Given the description of an element on the screen output the (x, y) to click on. 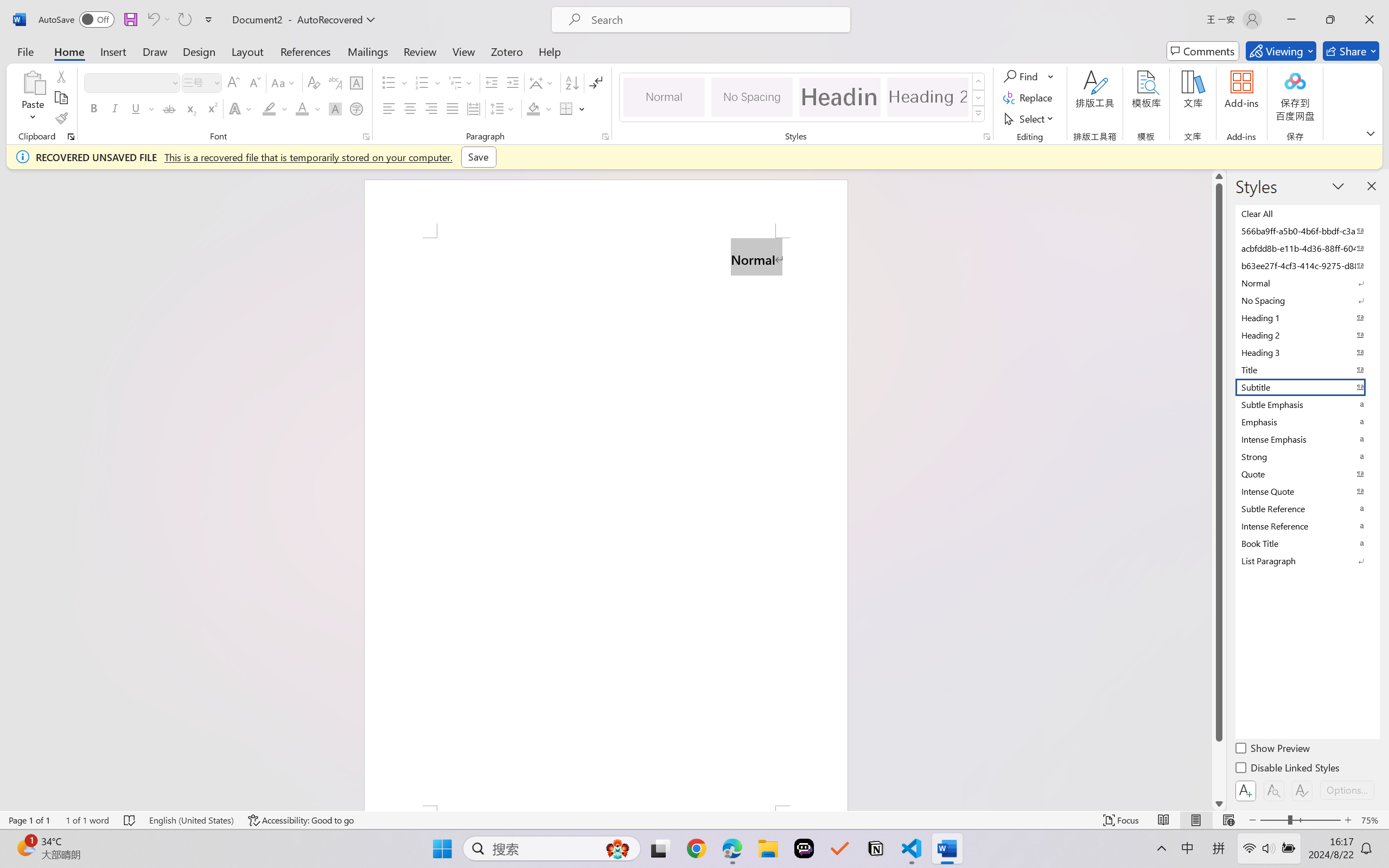
Class: NetUIScrollBar (1219, 489)
Center (409, 108)
Change Case (284, 82)
Character Shading (334, 108)
Strong (1306, 456)
Clear All (1306, 213)
